Given the description of an element on the screen output the (x, y) to click on. 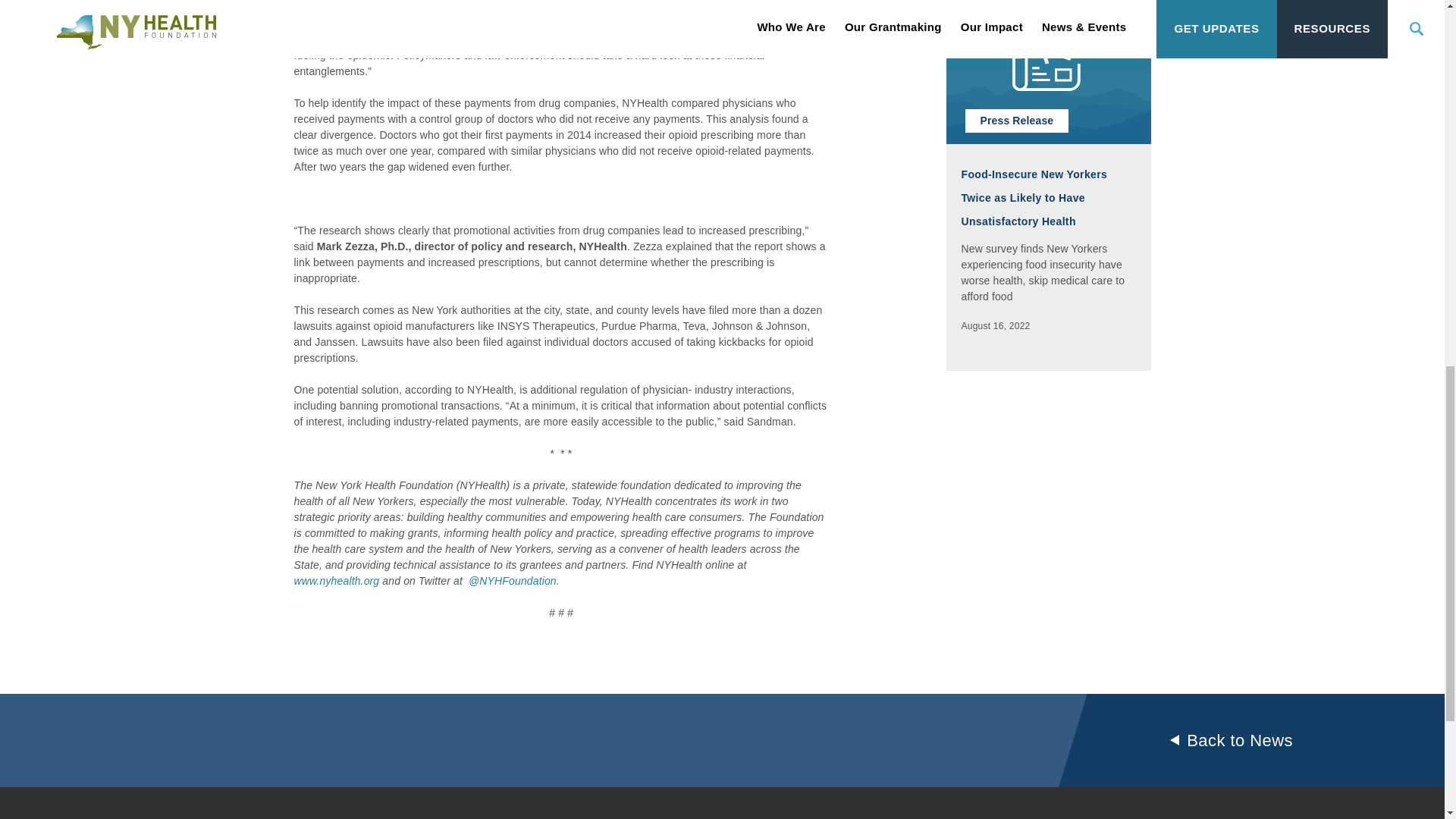
www.nyhealth.org (338, 580)
